Given the description of an element on the screen output the (x, y) to click on. 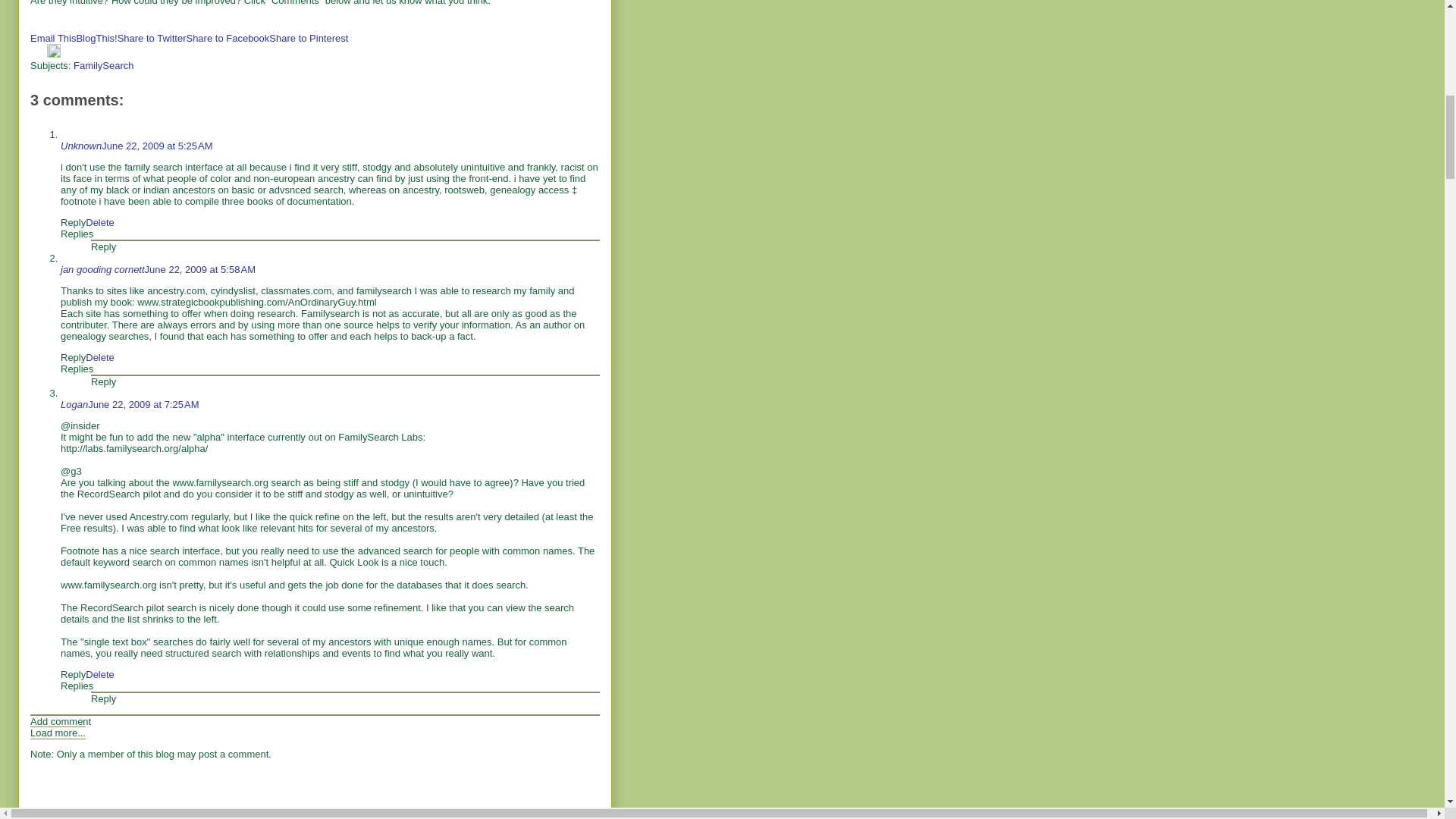
Delete (100, 357)
Email Post (38, 53)
Share to Facebook (227, 38)
Share to Twitter (151, 38)
Share to Twitter (151, 38)
Share to Pinterest (308, 38)
Share to Facebook (227, 38)
BlogThis! (95, 38)
Edit Post (53, 53)
Reply (73, 222)
FamilySearch (103, 65)
Share to Pinterest (308, 38)
jan gooding cornett (102, 269)
Delete (100, 222)
